Given the description of an element on the screen output the (x, y) to click on. 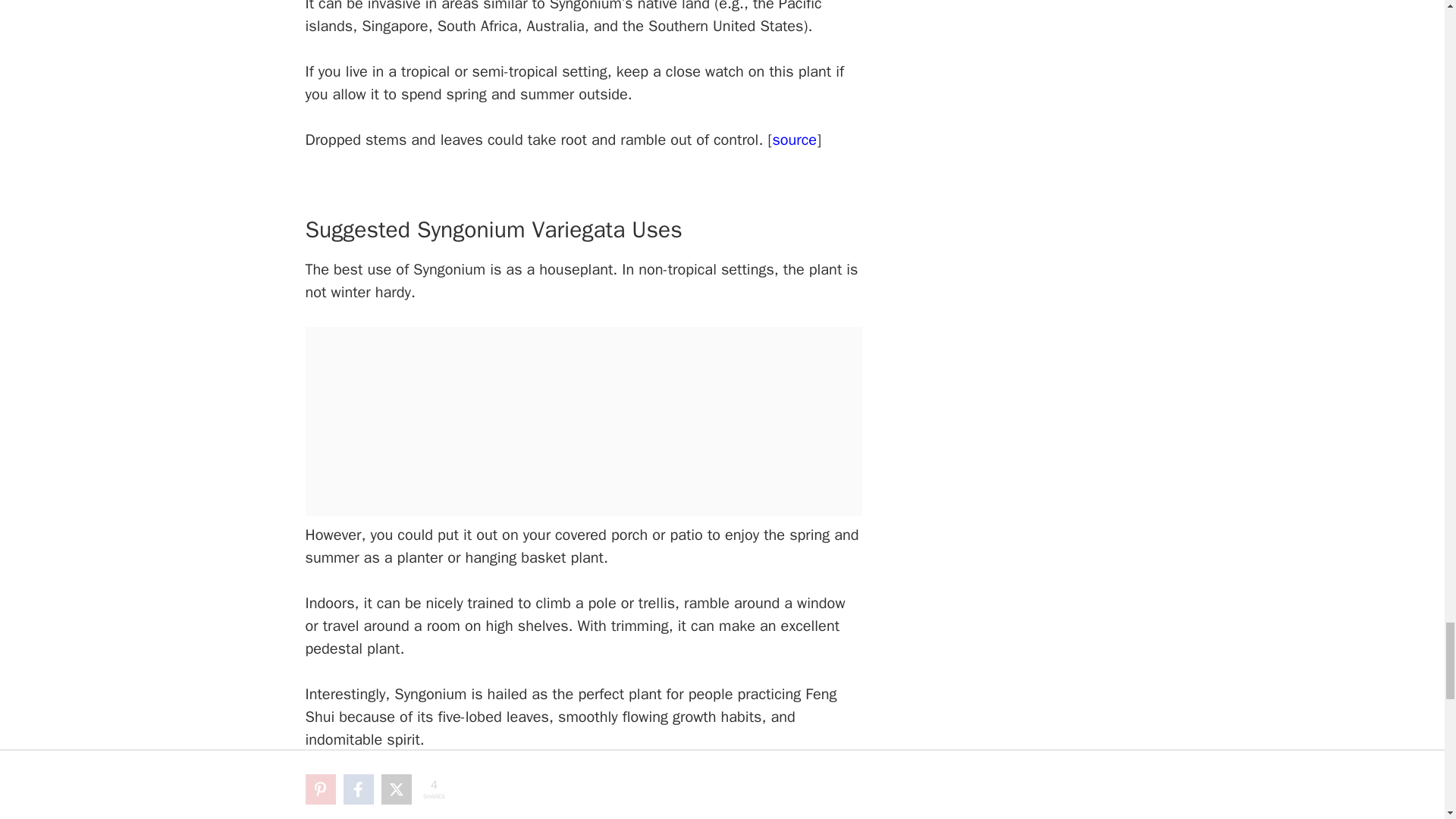
source (793, 139)
